Given the description of an element on the screen output the (x, y) to click on. 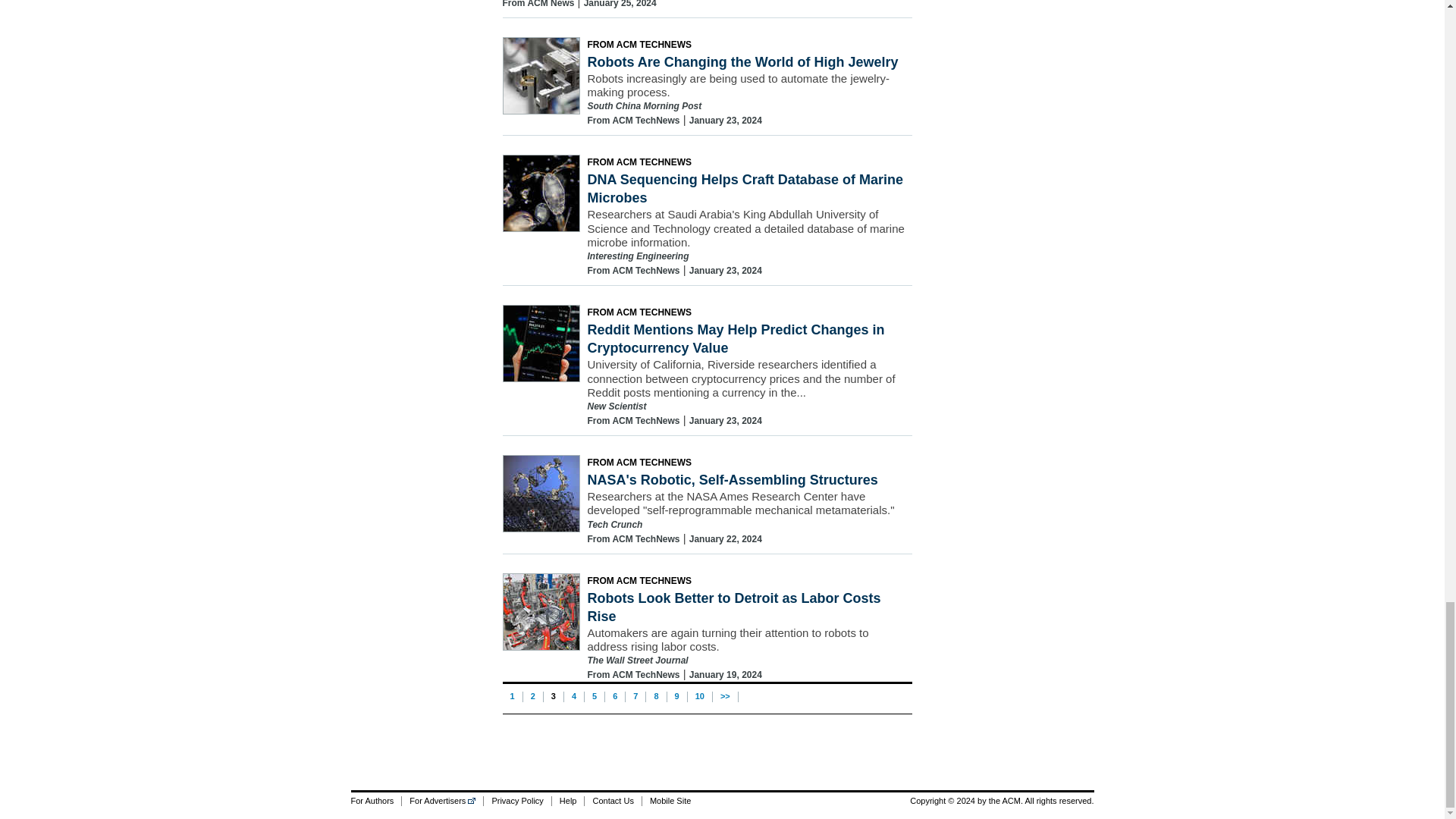
For Authors (375, 800)
Contact Us (611, 800)
For Advertisers (442, 800)
Help (568, 800)
Privacy Policy (516, 800)
